Given the description of an element on the screen output the (x, y) to click on. 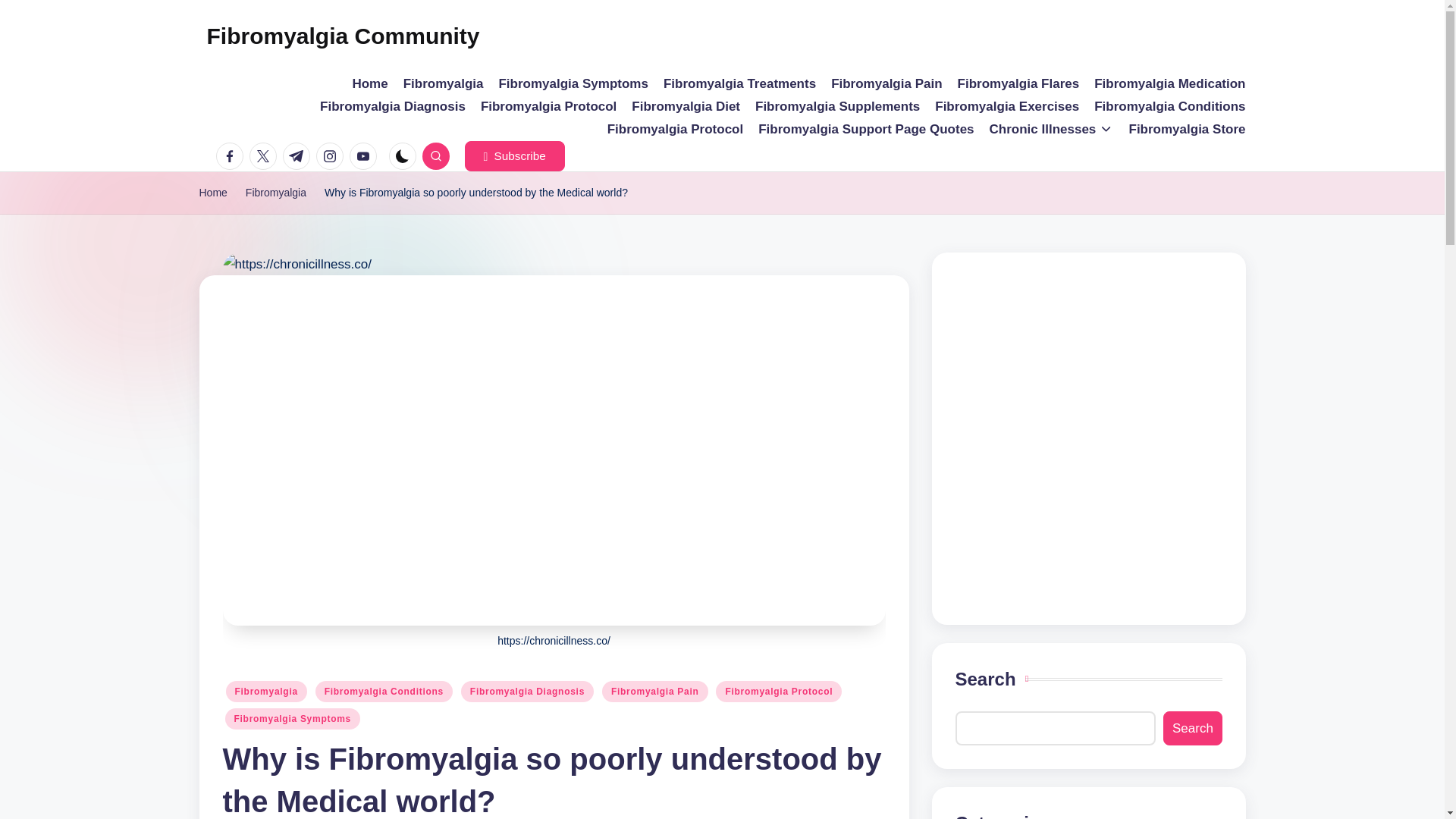
Home (369, 83)
Fibromyalgia Support Page Quotes (866, 128)
Home (212, 192)
Fibromyalgia Treatments (739, 83)
youtube.com (365, 155)
Fibromyalgia Community (342, 36)
Fibromyalgia Pain (886, 83)
facebook.com (231, 155)
Fibromyalgia Diagnosis (392, 106)
Fibromyalgia Exercises (1006, 106)
Fibromyalgia Protocol (674, 128)
Fibromyalgia Protocol (547, 106)
Fibromyalgia Supplements (837, 106)
Fibromyalgia Conditions (1169, 106)
Subscribe (514, 155)
